Given the description of an element on the screen output the (x, y) to click on. 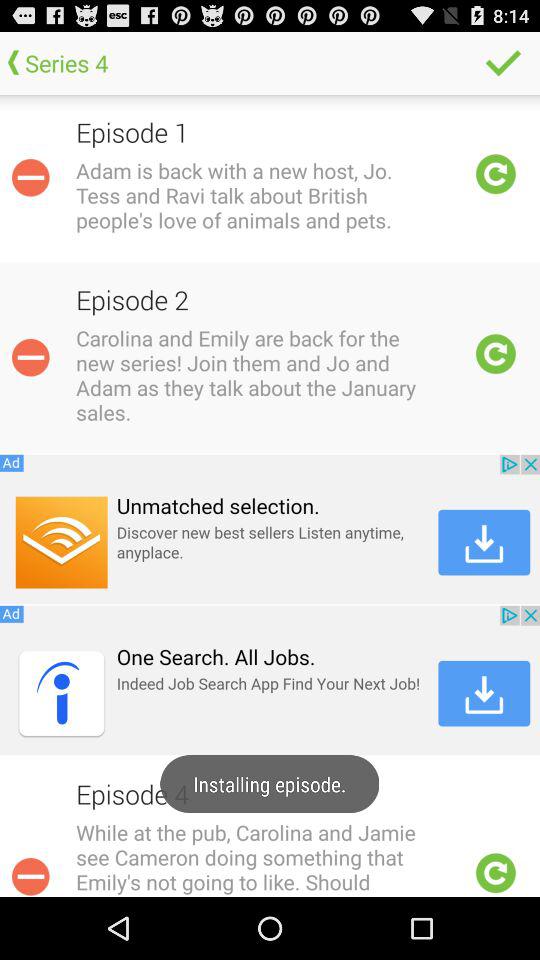
the app helps you learn everyday english by (30, 874)
